Given the description of an element on the screen output the (x, y) to click on. 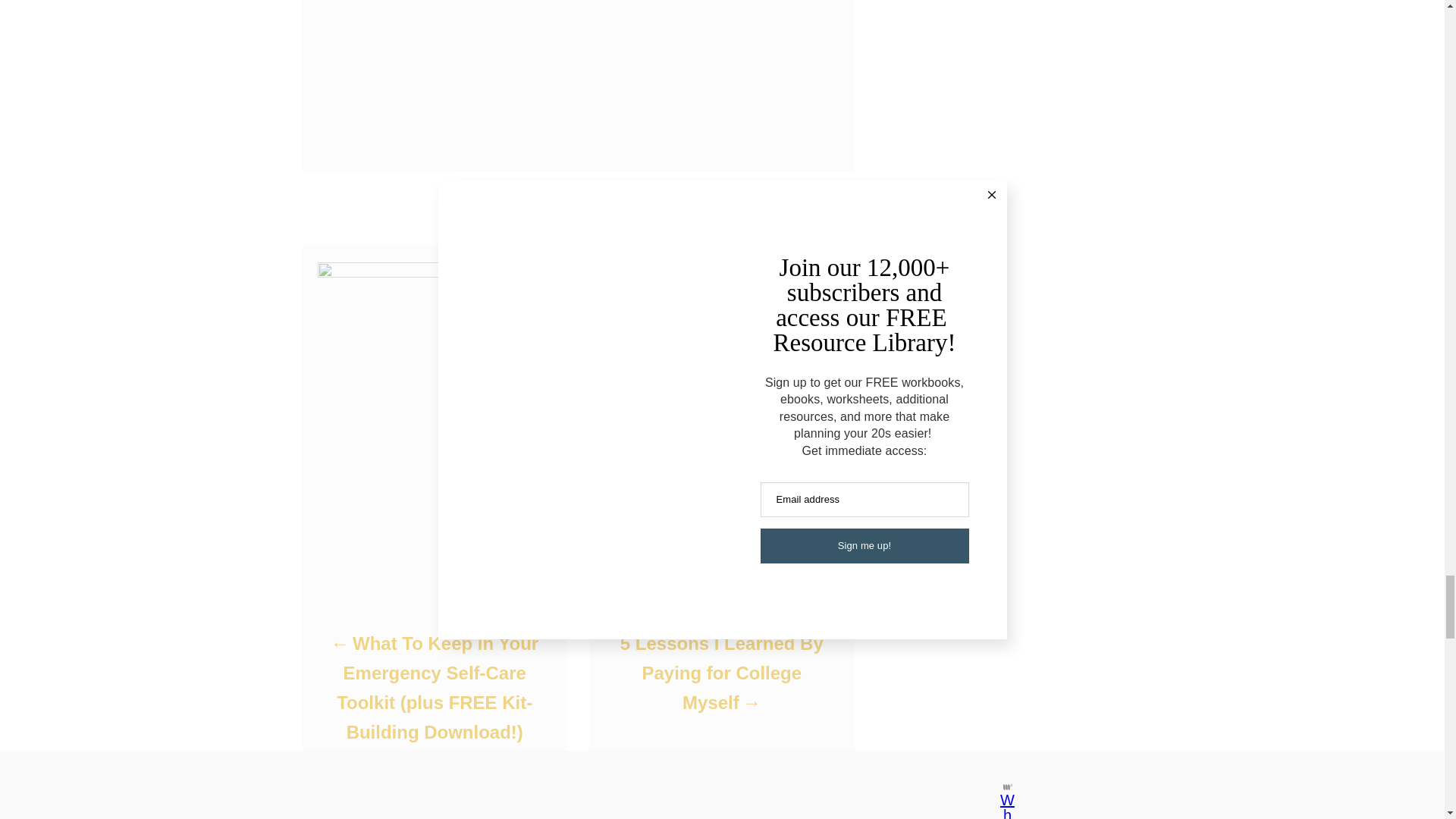
5 Lessons I Learned By Paying for College Myself (721, 672)
